Given the description of an element on the screen output the (x, y) to click on. 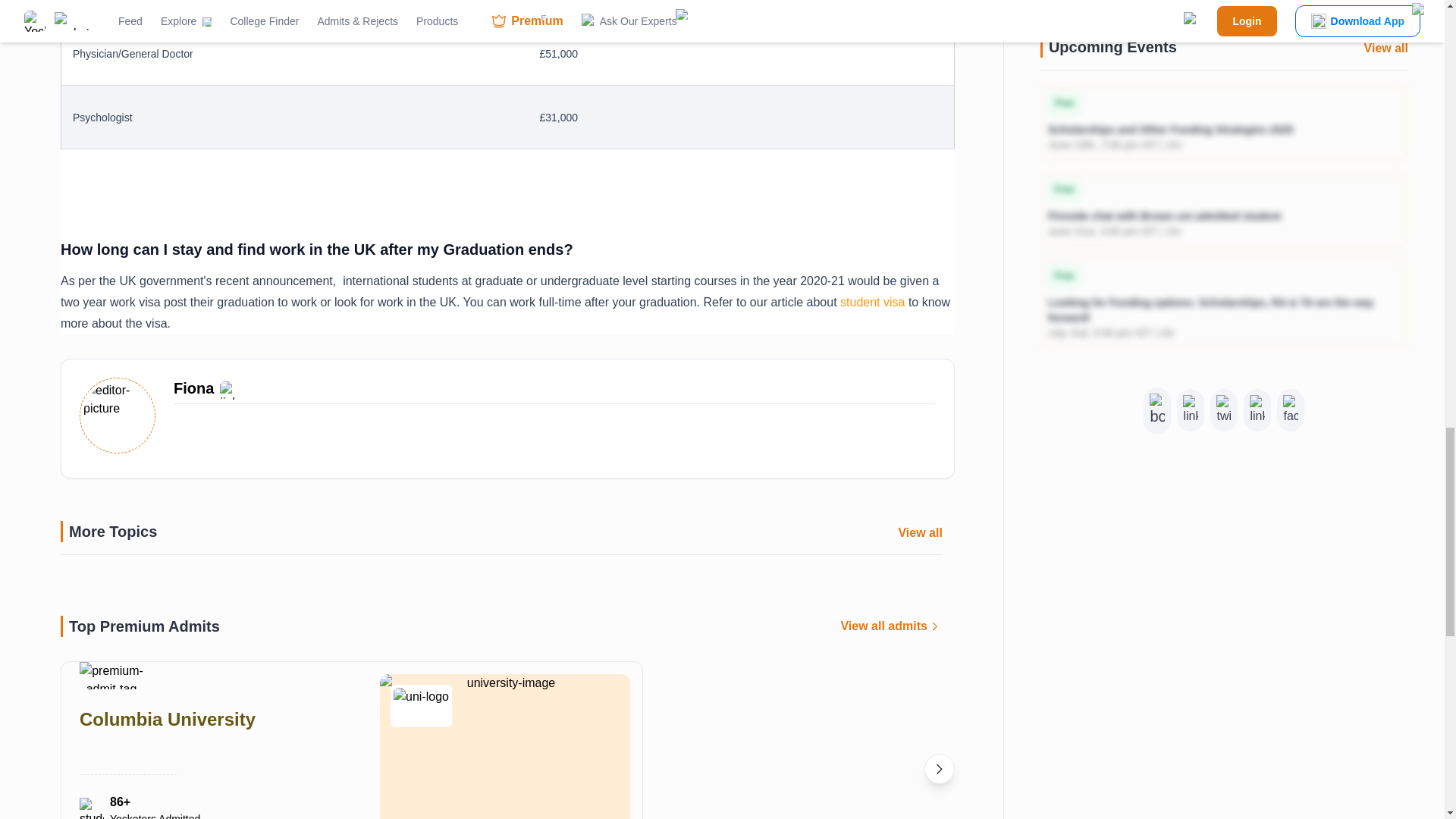
View all (920, 532)
Fiona (193, 390)
student visa (871, 301)
View all admits (891, 626)
